Given the description of an element on the screen output the (x, y) to click on. 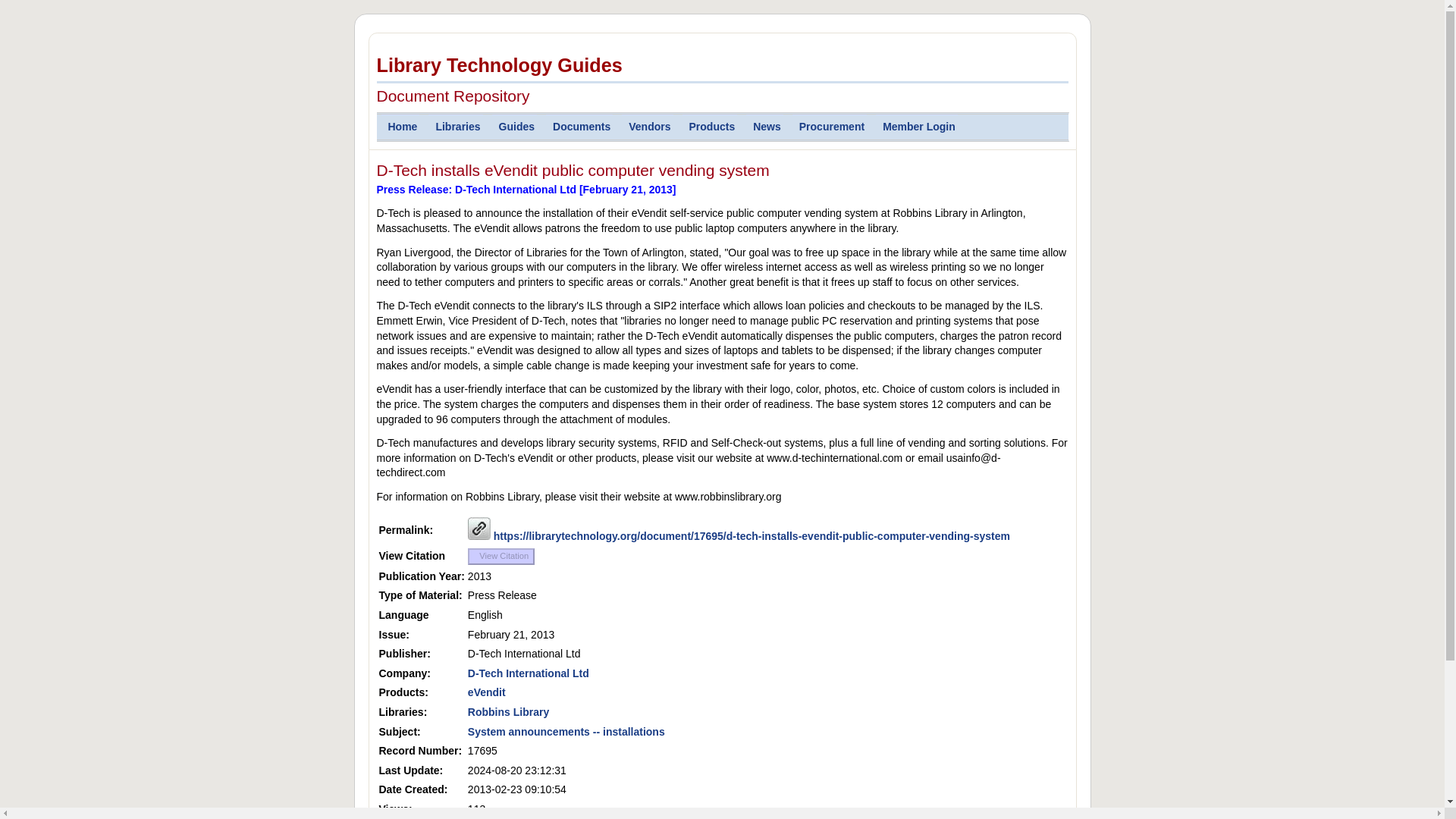
Home (399, 126)
Vendors (646, 126)
Documents (579, 126)
View Citation (500, 556)
Library Technology Guides (721, 68)
Persistent URL for this listing (478, 527)
Execute a Product search for eVendit (486, 692)
Libraries (454, 126)
Execute a Company search for D-Tech International Ltd (528, 673)
